Given the description of an element on the screen output the (x, y) to click on. 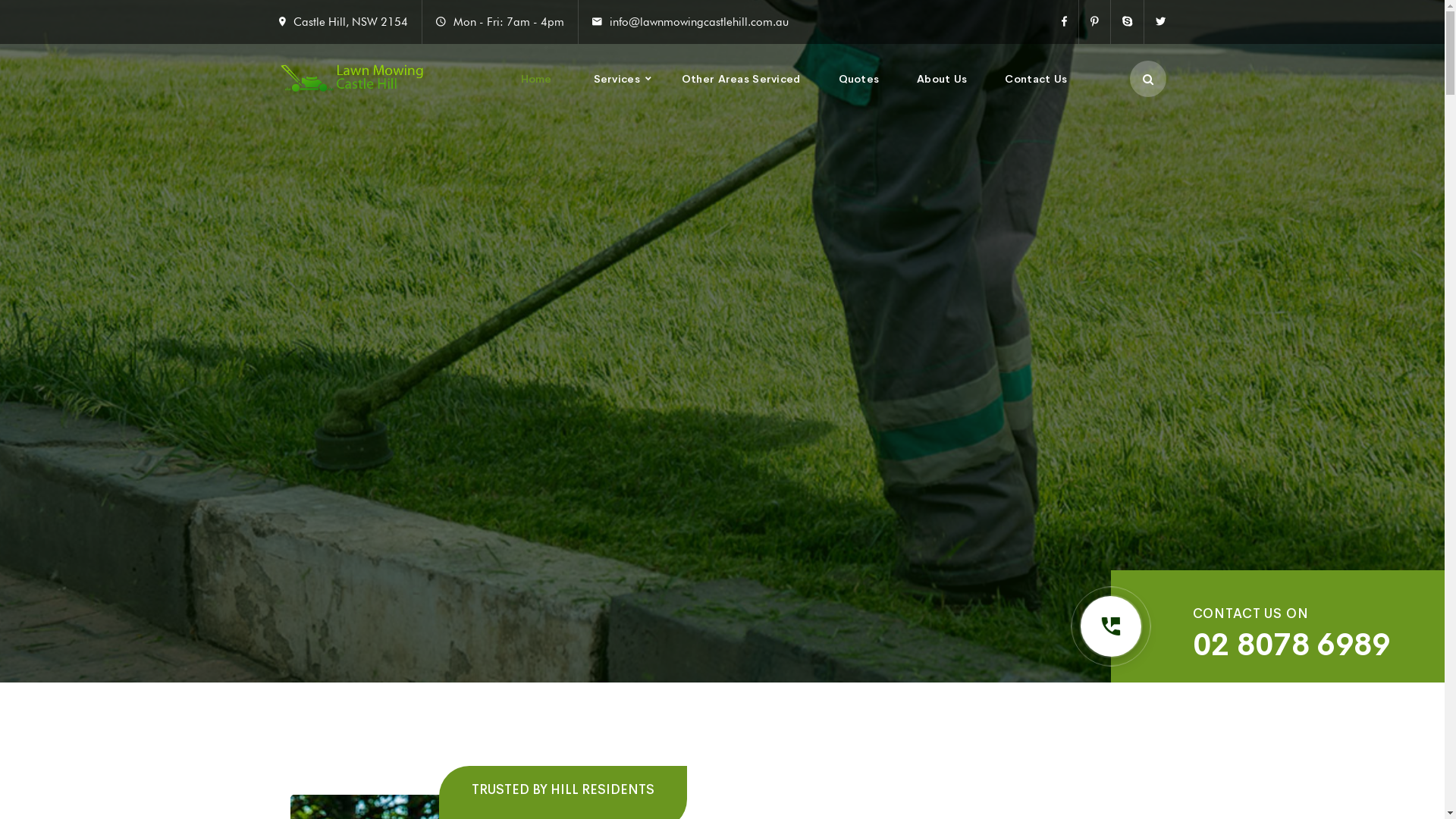
Lawn Mowing in Castle Hill Element type: hover (351, 78)
info@lawnmowingcastlehill.com.au Element type: text (698, 21)
About Us Element type: text (941, 78)
Skype Element type: hover (1126, 21)
Quotes Element type: text (858, 78)
Other Areas Serviced Element type: text (740, 78)
Pinterest Element type: hover (1094, 21)
Home Element type: text (536, 78)
Contact Us Element type: text (1035, 78)
Facebook Element type: hover (1070, 21)
Services Element type: text (616, 78)
Twitter Element type: hover (1154, 21)
